Given the description of an element on the screen output the (x, y) to click on. 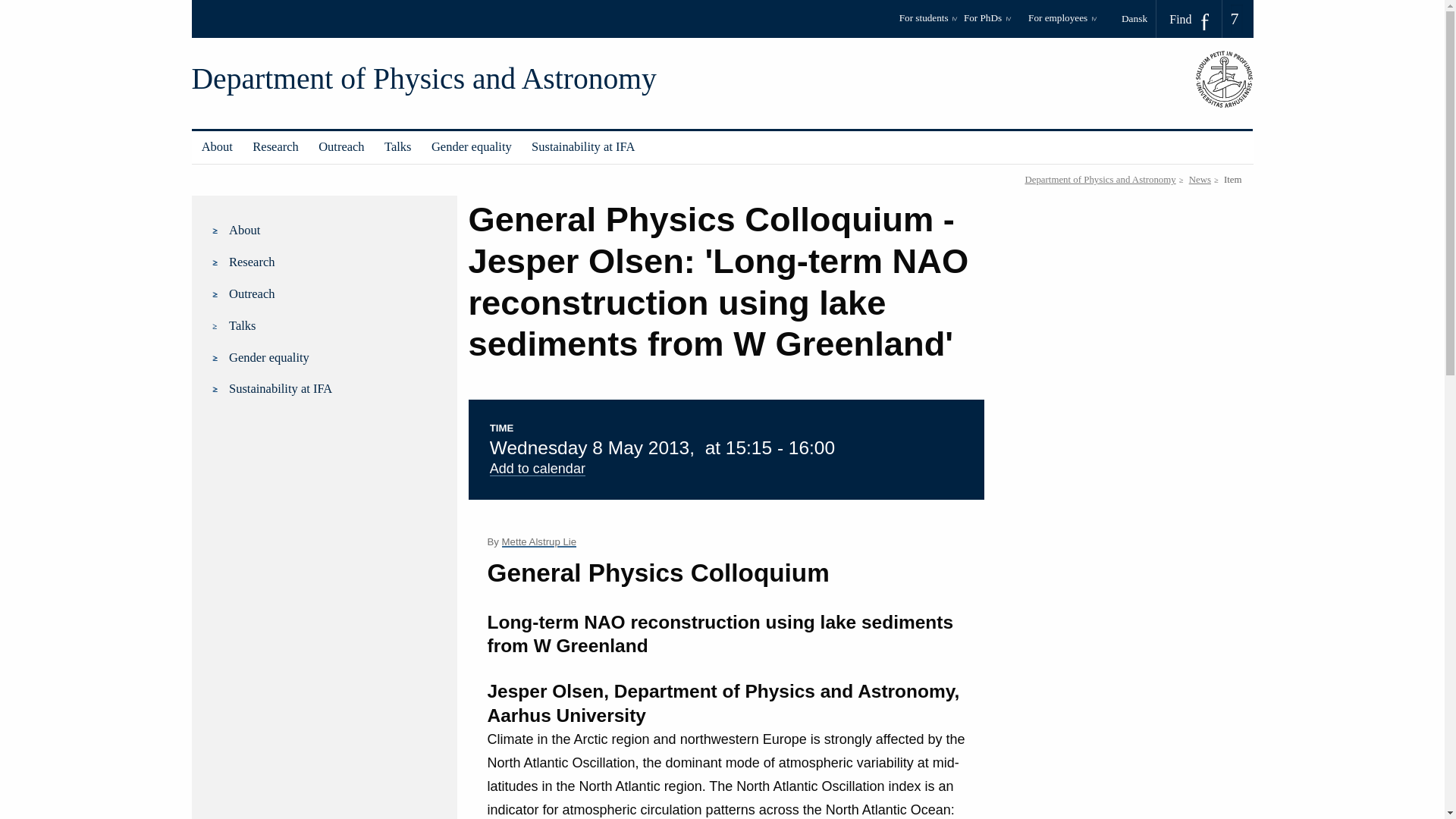
Find (1189, 19)
For students (927, 22)
Search (17, 5)
Talks (398, 147)
About (216, 147)
Gender equality (471, 147)
Department of Physics and Astronomy (423, 78)
For PhDs (992, 22)
Dansk (1139, 18)
Research (275, 147)
For employees (1061, 23)
Outreach (341, 147)
Dansk (1139, 18)
